Given the description of an element on the screen output the (x, y) to click on. 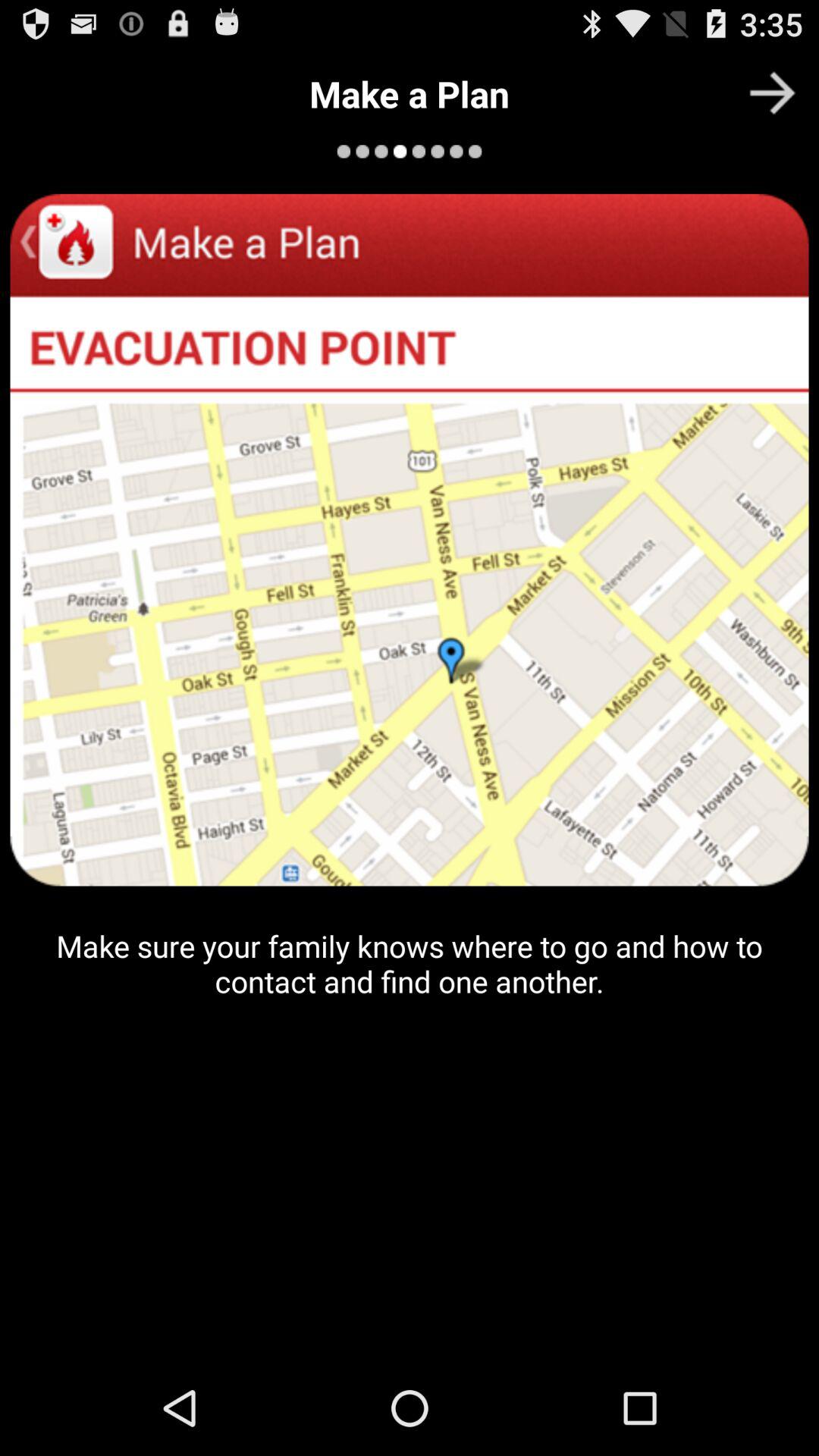
next screen (772, 92)
